Given the description of an element on the screen output the (x, y) to click on. 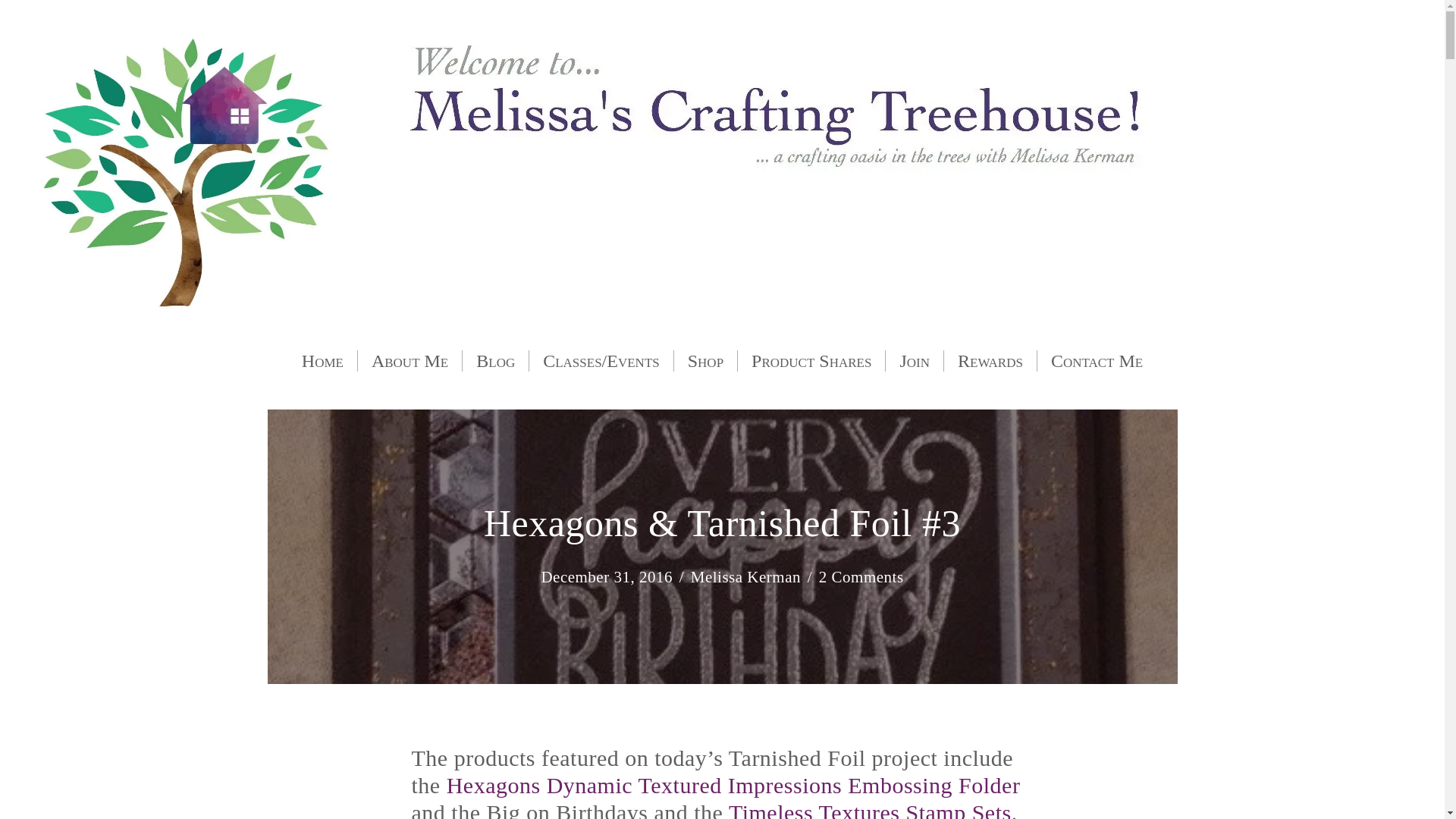
About Me (409, 360)
Home (322, 360)
Final-Logo No Text (186, 171)
Blog (495, 360)
Product Shares (811, 360)
Contact Me (1096, 360)
Rewards (989, 360)
Shop (705, 360)
Join (914, 360)
